Given the description of an element on the screen output the (x, y) to click on. 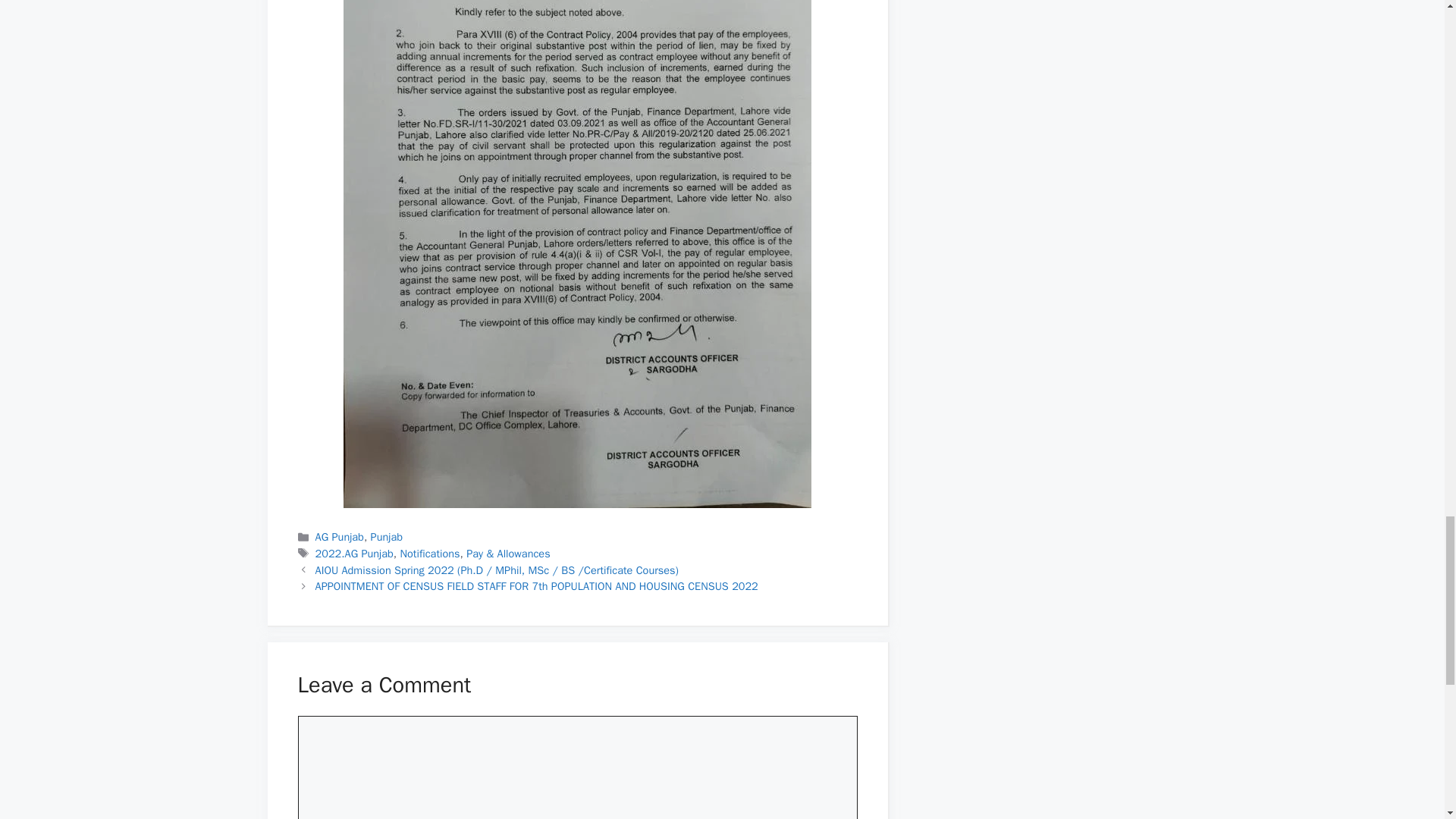
Notifications (430, 553)
2022.AG Punjab (354, 553)
Punjab (387, 536)
AG Punjab (339, 536)
